Given the description of an element on the screen output the (x, y) to click on. 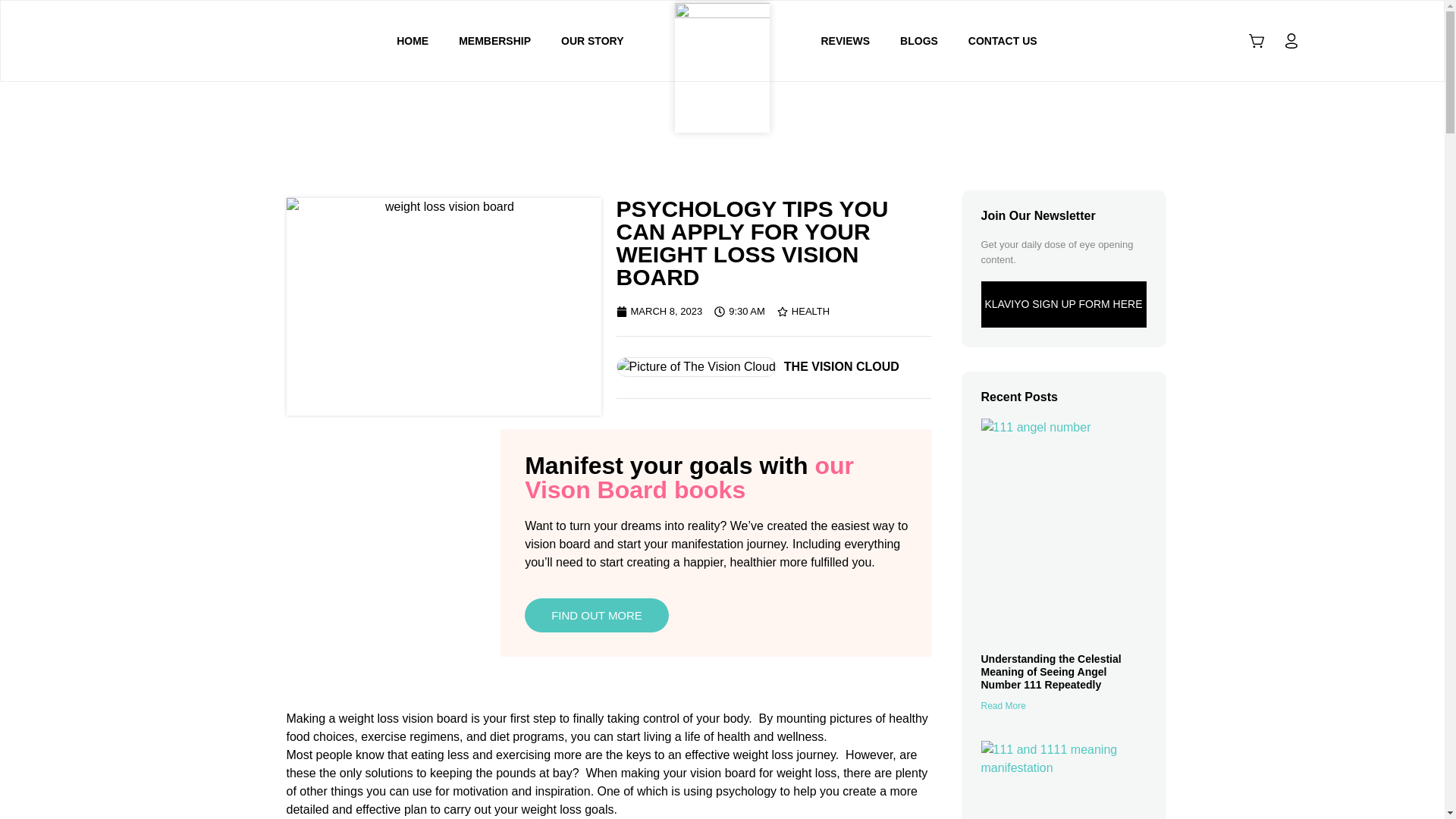
OUR STORY (592, 40)
MEMBERSHIP (495, 40)
FIND OUT MORE (596, 615)
HOME (412, 40)
BLOGS (919, 40)
CONTACT US (1002, 40)
REVIEWS (845, 40)
HEALTH (810, 310)
MARCH 8, 2023 (658, 311)
